Given the description of an element on the screen output the (x, y) to click on. 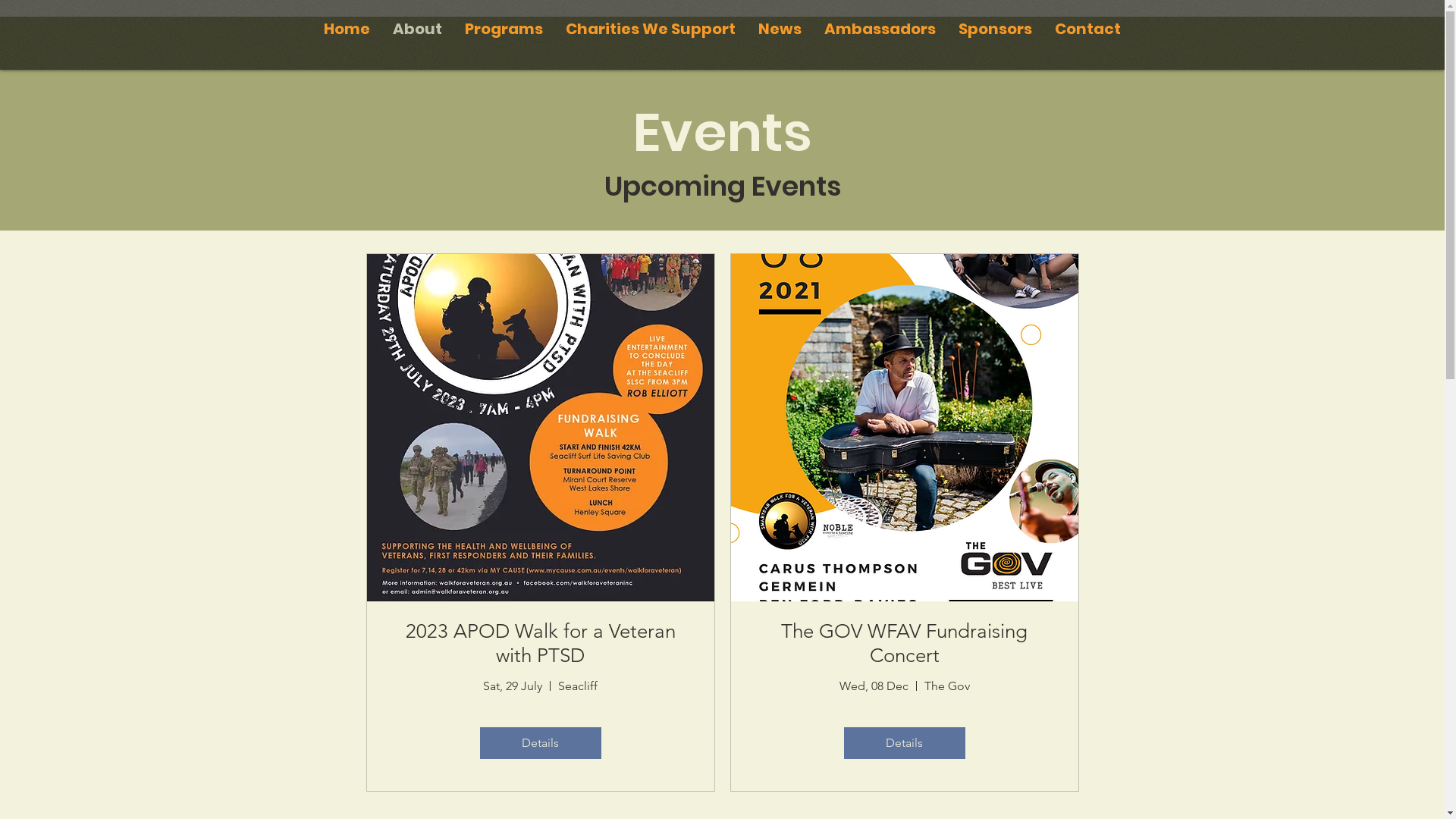
Sponsors Element type: text (994, 29)
Contact Element type: text (1087, 29)
Details Element type: text (903, 743)
Home Element type: text (346, 29)
News Element type: text (779, 29)
Charities We Support Element type: text (649, 29)
The GOV WFAV Fundraising Concert Element type: text (904, 642)
Programs Element type: text (503, 29)
Details Element type: text (539, 743)
2023 APOD Walk for a Veteran with PTSD Element type: text (539, 642)
Ambassadors Element type: text (879, 29)
About Element type: text (416, 29)
